Given the description of an element on the screen output the (x, y) to click on. 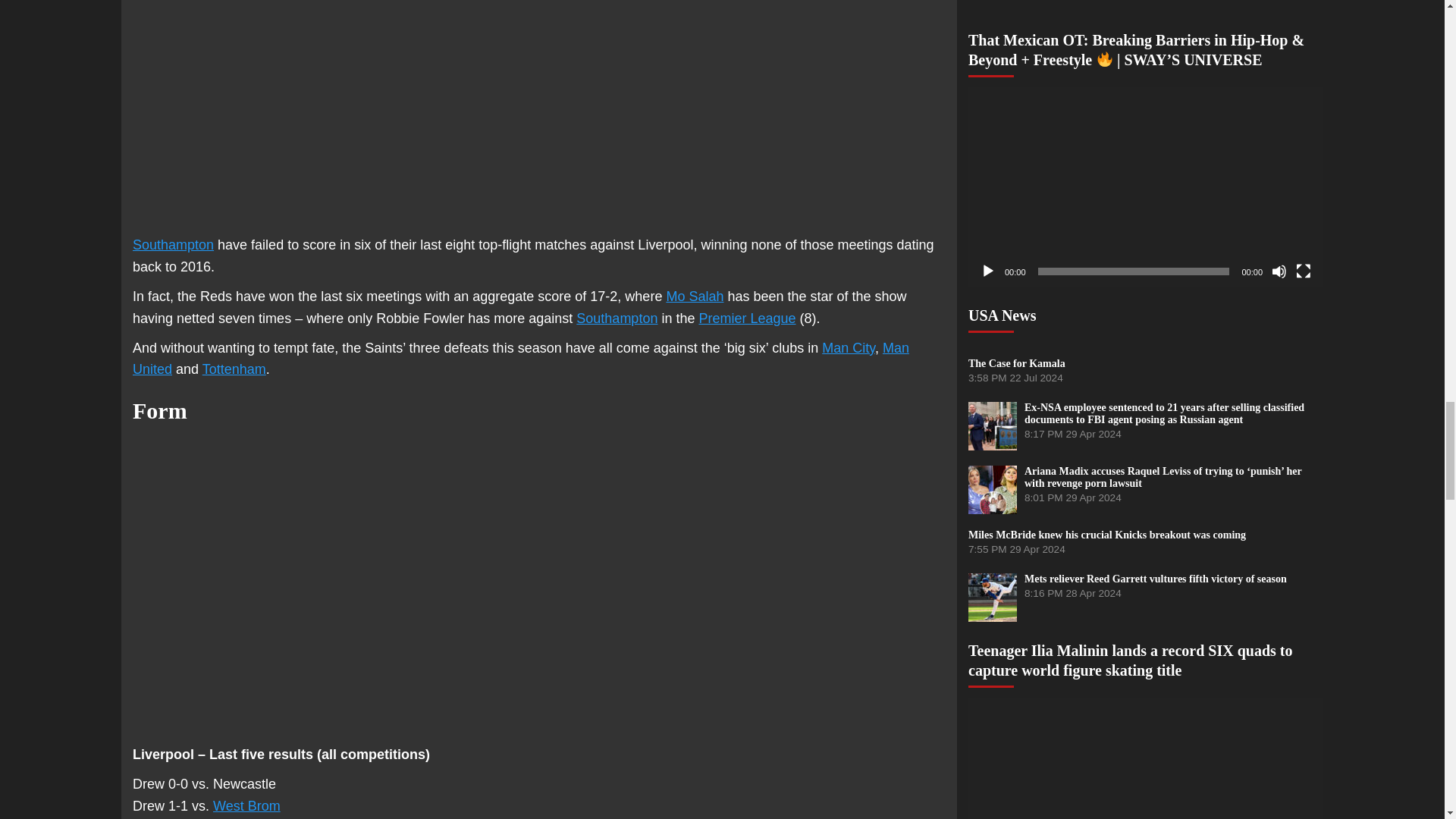
Mo Salah (694, 296)
